Given the description of an element on the screen output the (x, y) to click on. 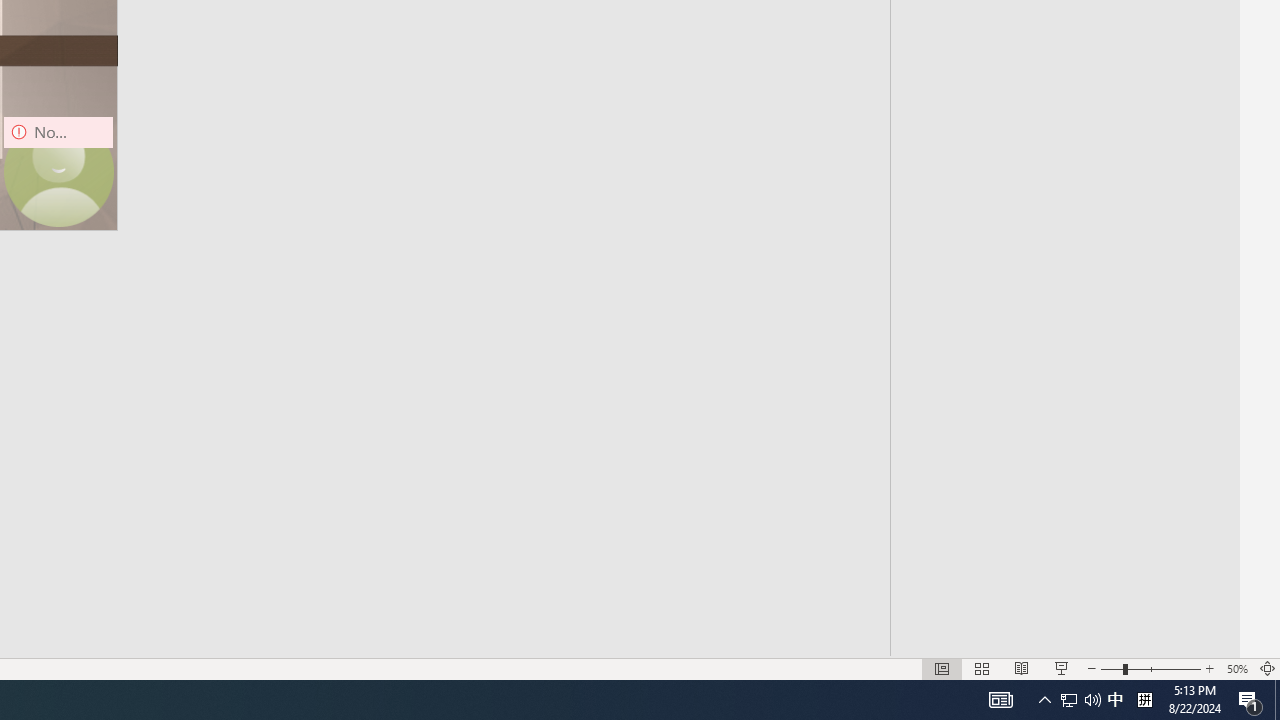
Camera 9, No camera detected. (58, 171)
Zoom 50% (1236, 668)
